Given the description of an element on the screen output the (x, y) to click on. 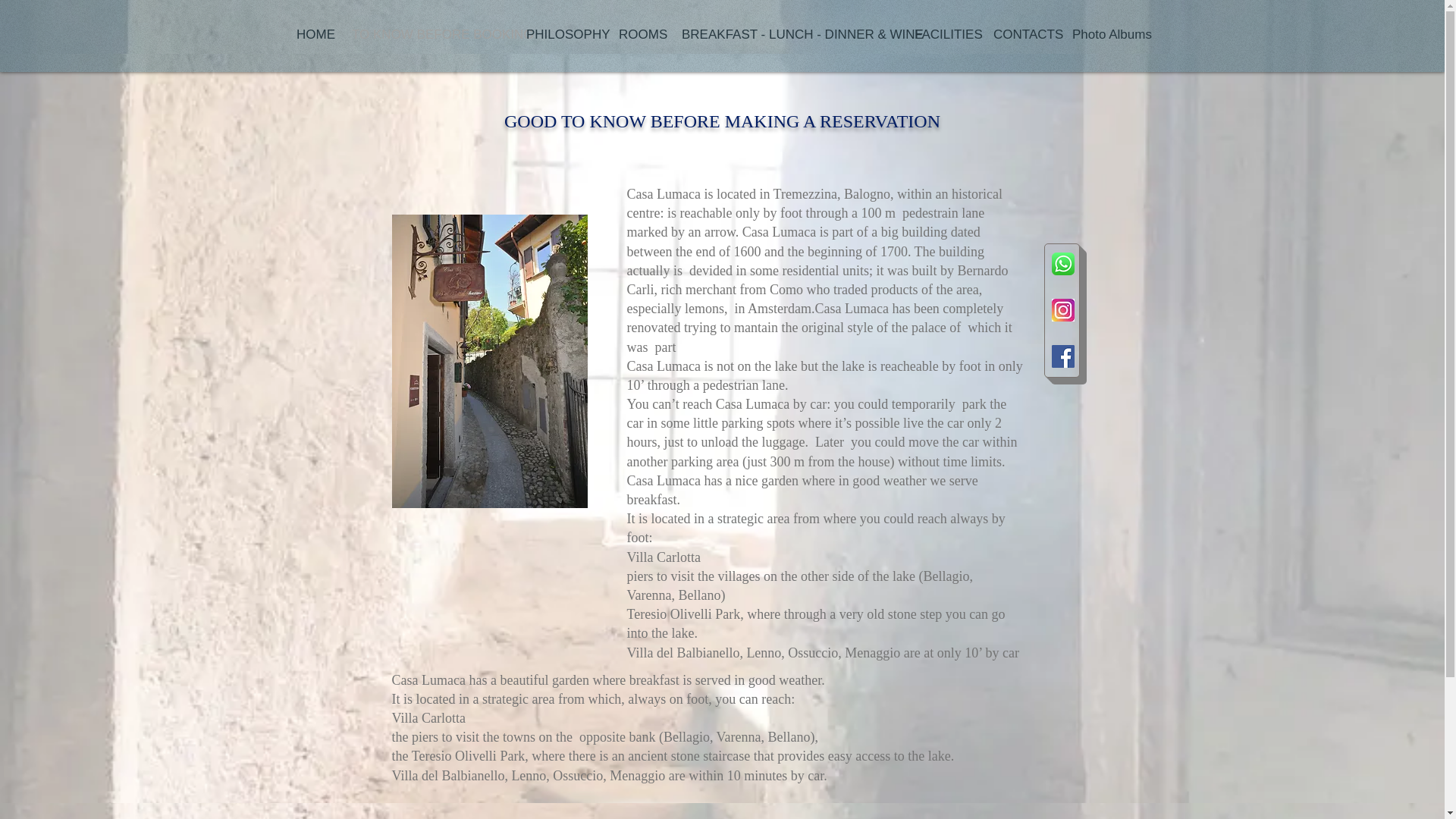
HOME (312, 34)
PHILOSOPHY (561, 34)
ROOMS (638, 34)
Photo Albums (1109, 34)
TO KNOW BEFORE BOOKING (427, 34)
FACILITIES (941, 34)
CONTACTS (1021, 34)
